Given the description of an element on the screen output the (x, y) to click on. 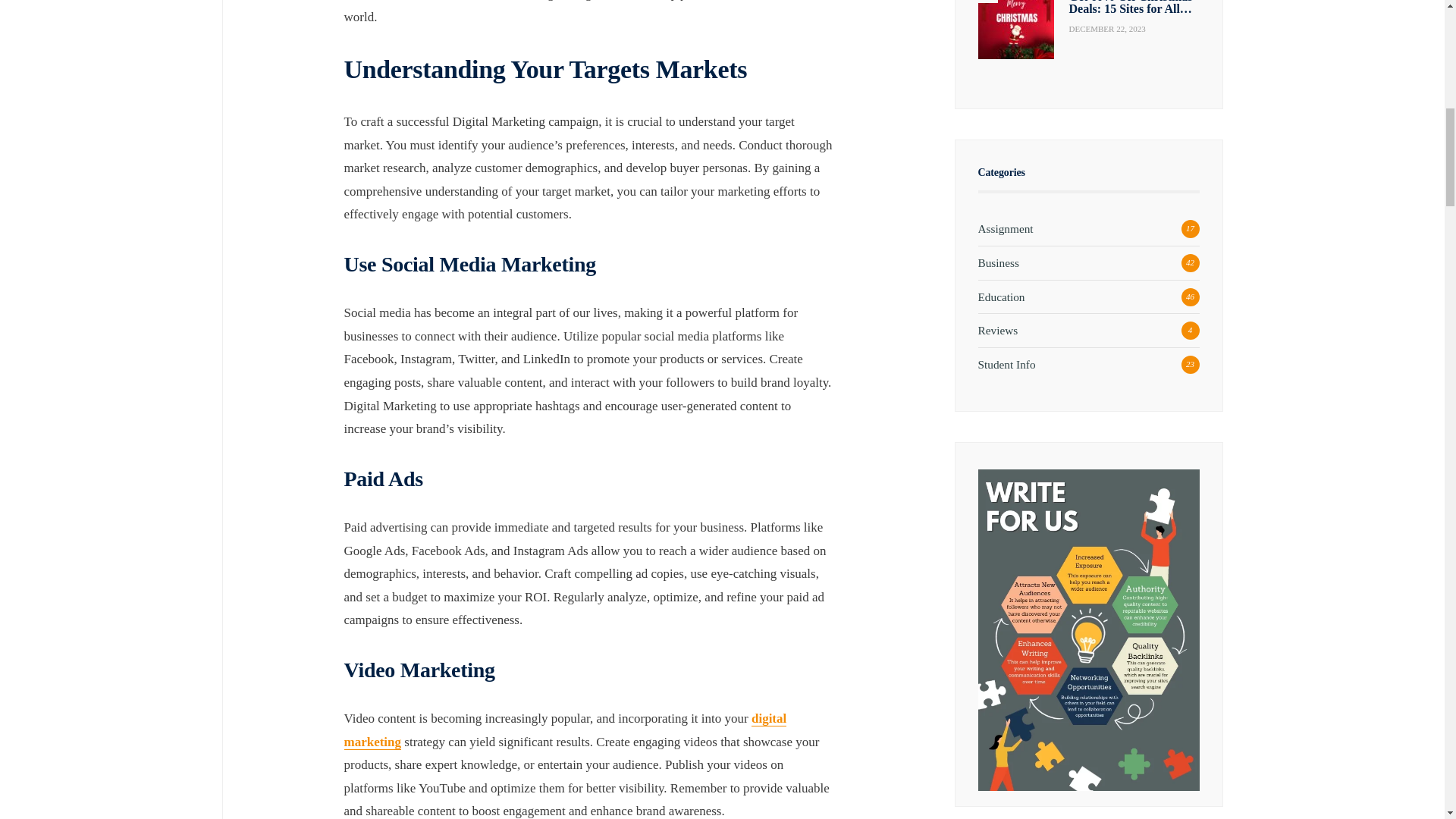
digital marketing (565, 730)
